Given the description of an element on the screen output the (x, y) to click on. 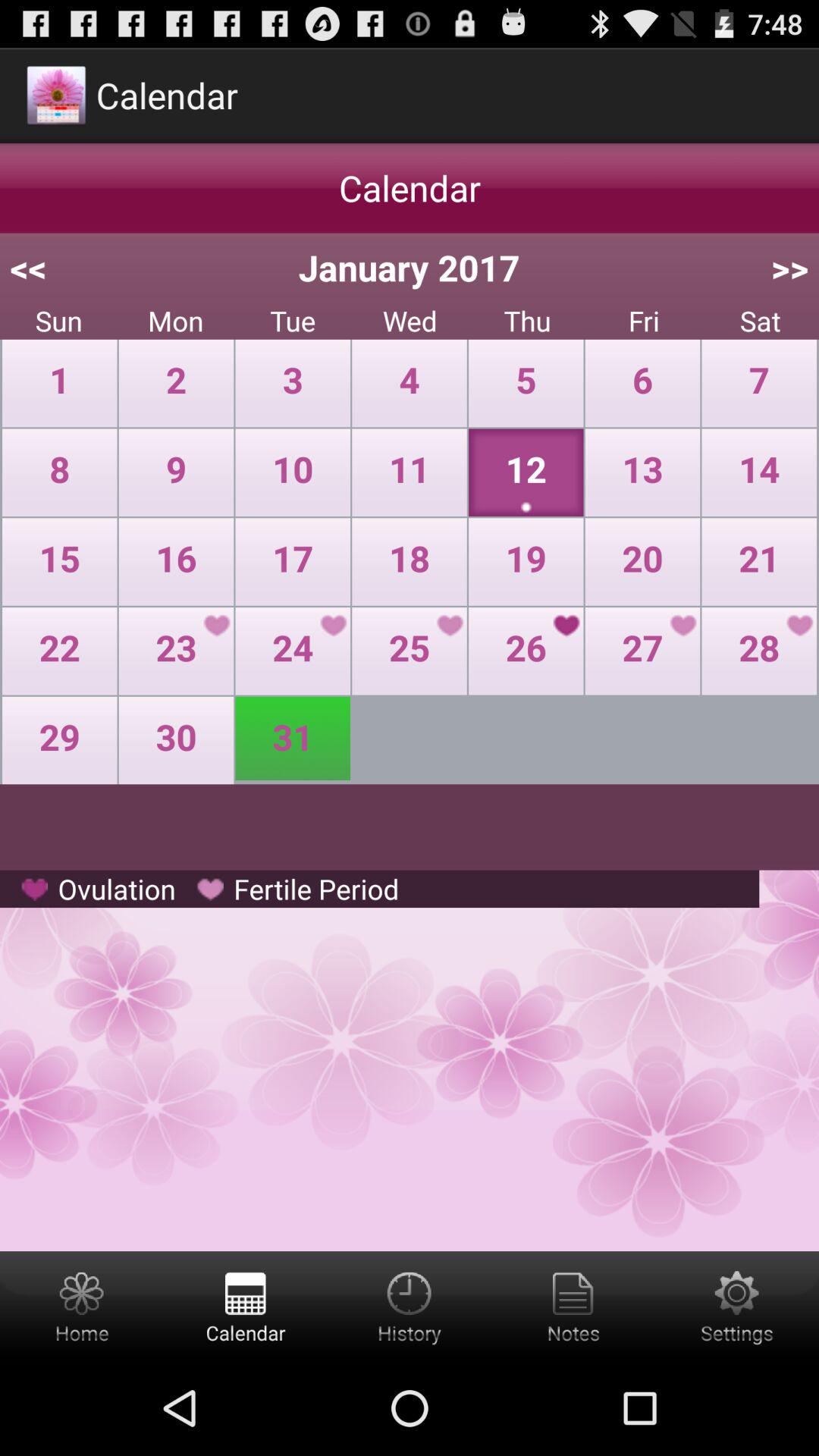
click to the history option (409, 1305)
